Given the description of an element on the screen output the (x, y) to click on. 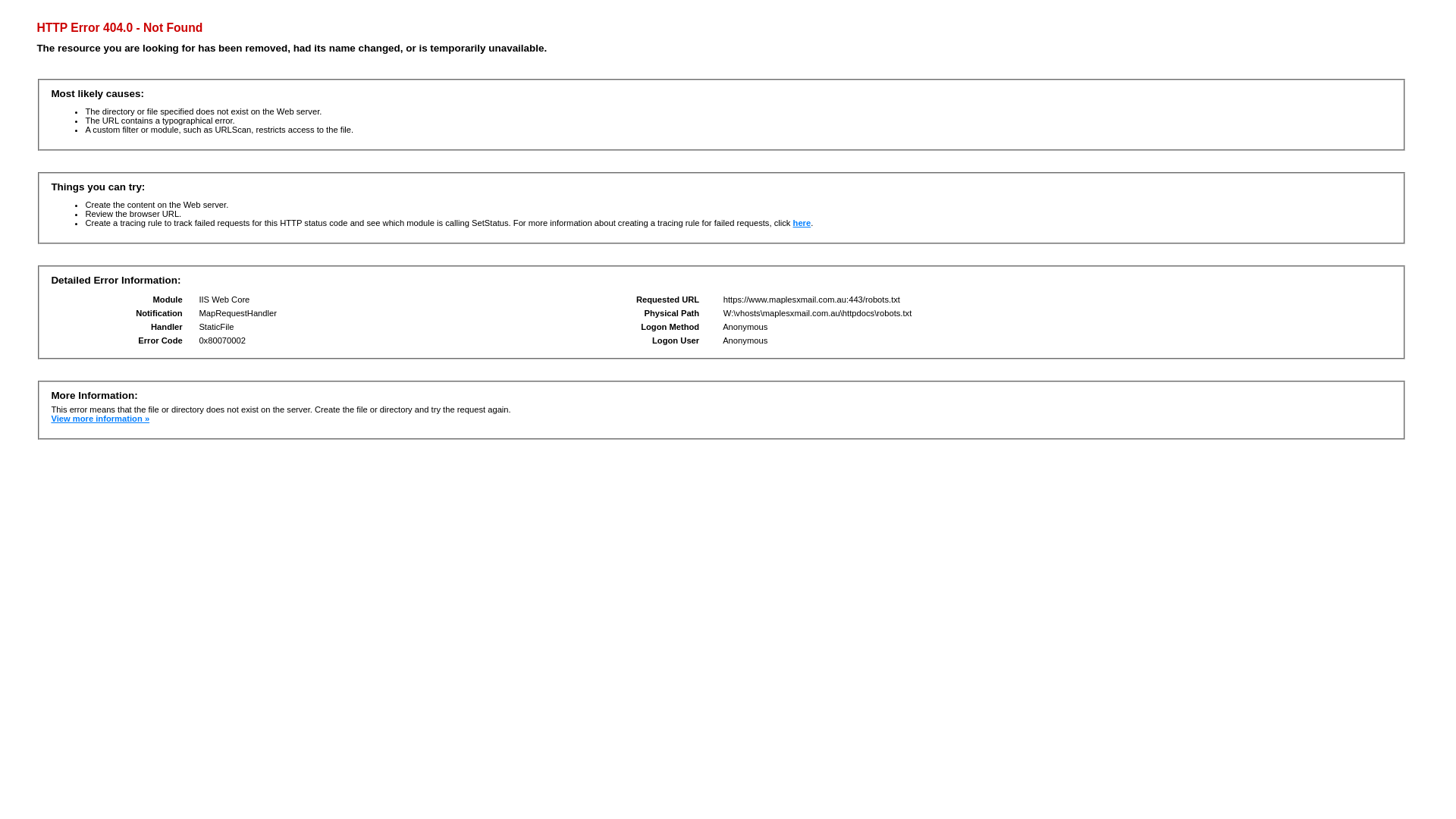
here Element type: text (802, 222)
